Given the description of an element on the screen output the (x, y) to click on. 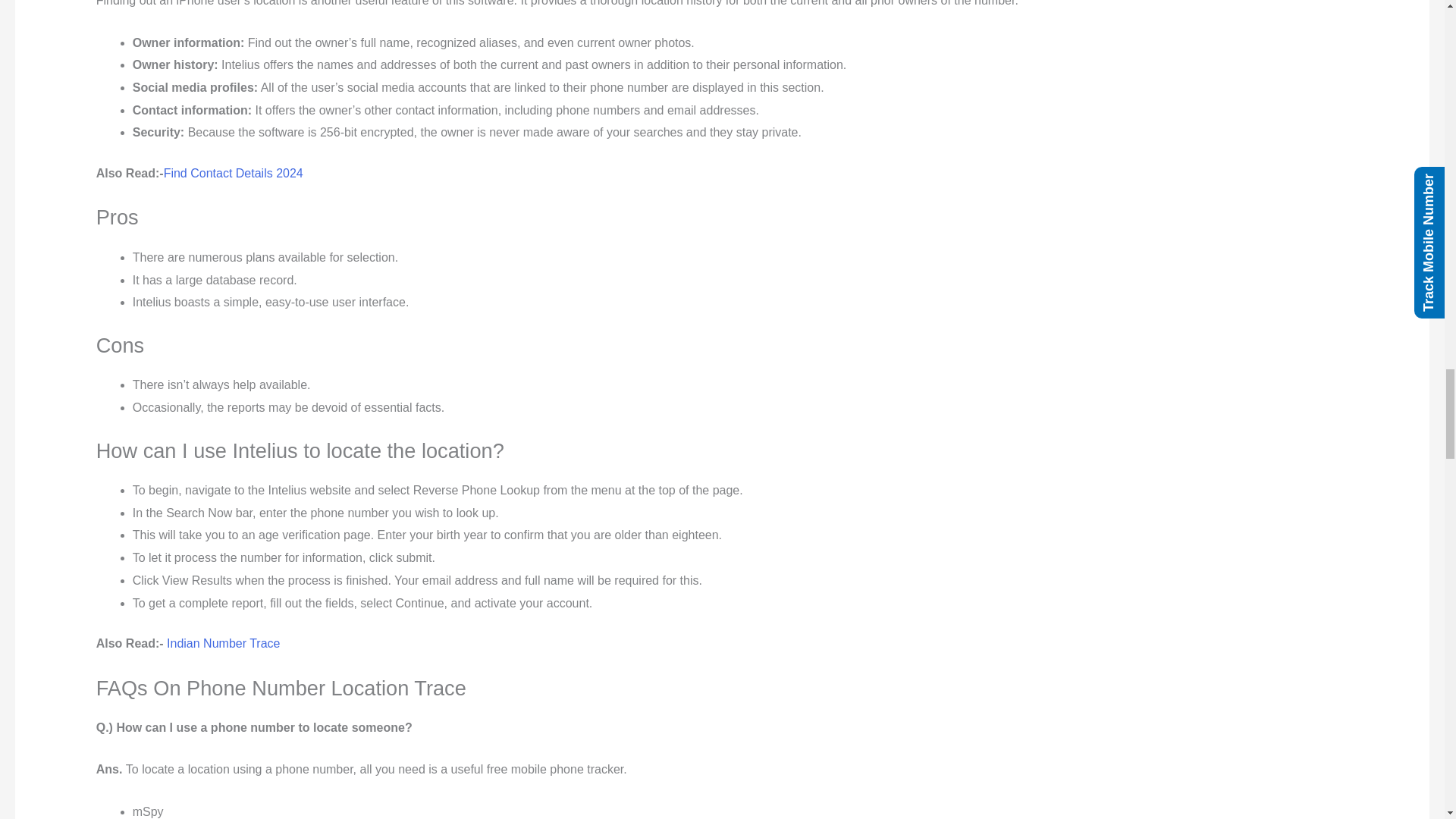
Indian Number Trace (223, 643)
Find Contact Details 2024 (232, 173)
